Given the description of an element on the screen output the (x, y) to click on. 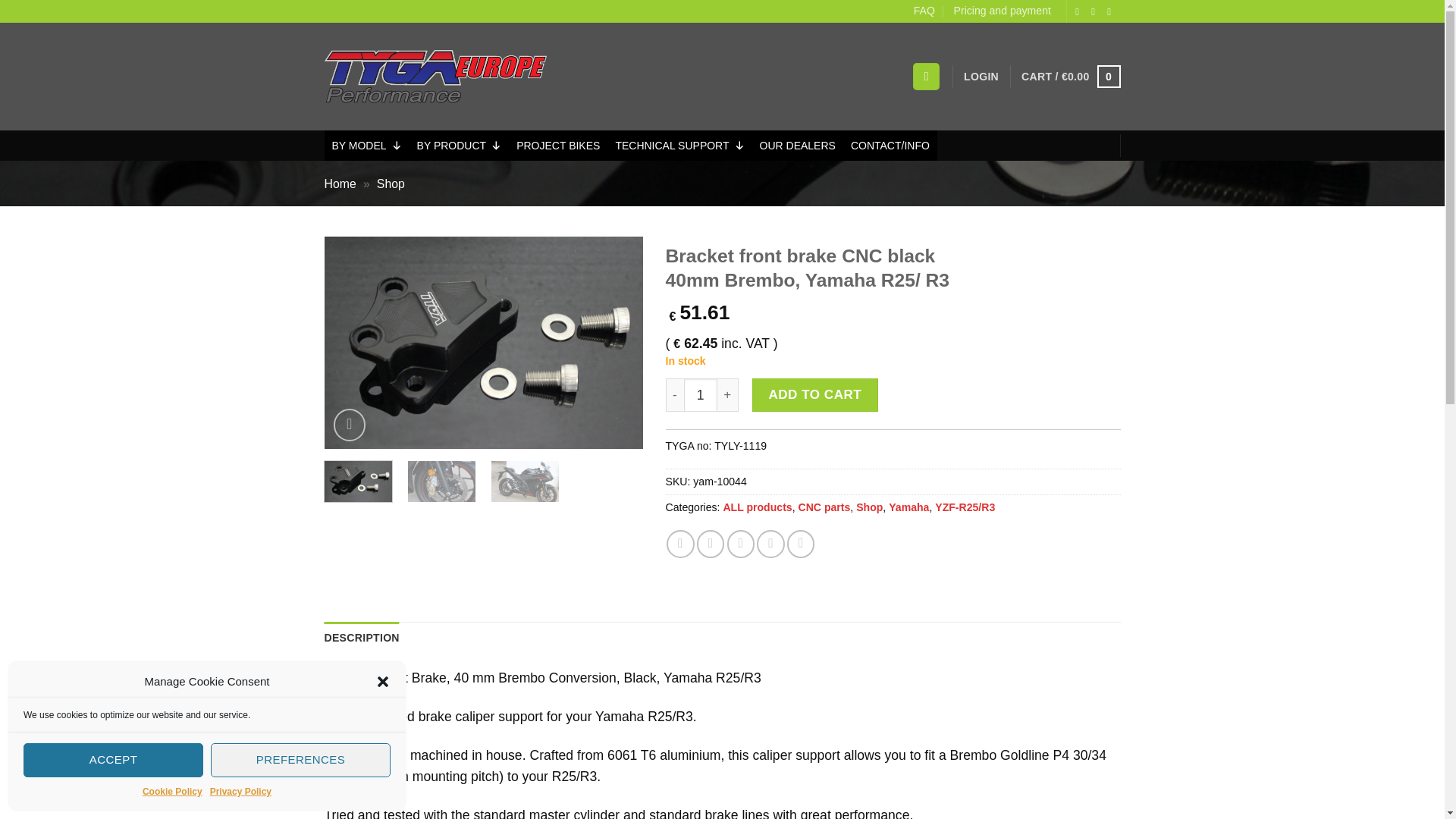
Login (980, 76)
Share on Twitter (710, 543)
Cookie Policy (172, 791)
ACCEPT (113, 759)
Privacy Policy (239, 791)
1 (700, 394)
Zoom (349, 424)
LOGIN (980, 76)
FAQ (924, 10)
Pricing and payment (1002, 10)
BY MODEL (366, 145)
Cart (1070, 76)
PREFERENCES (300, 759)
Pin on Pinterest (770, 543)
